Given the description of an element on the screen output the (x, y) to click on. 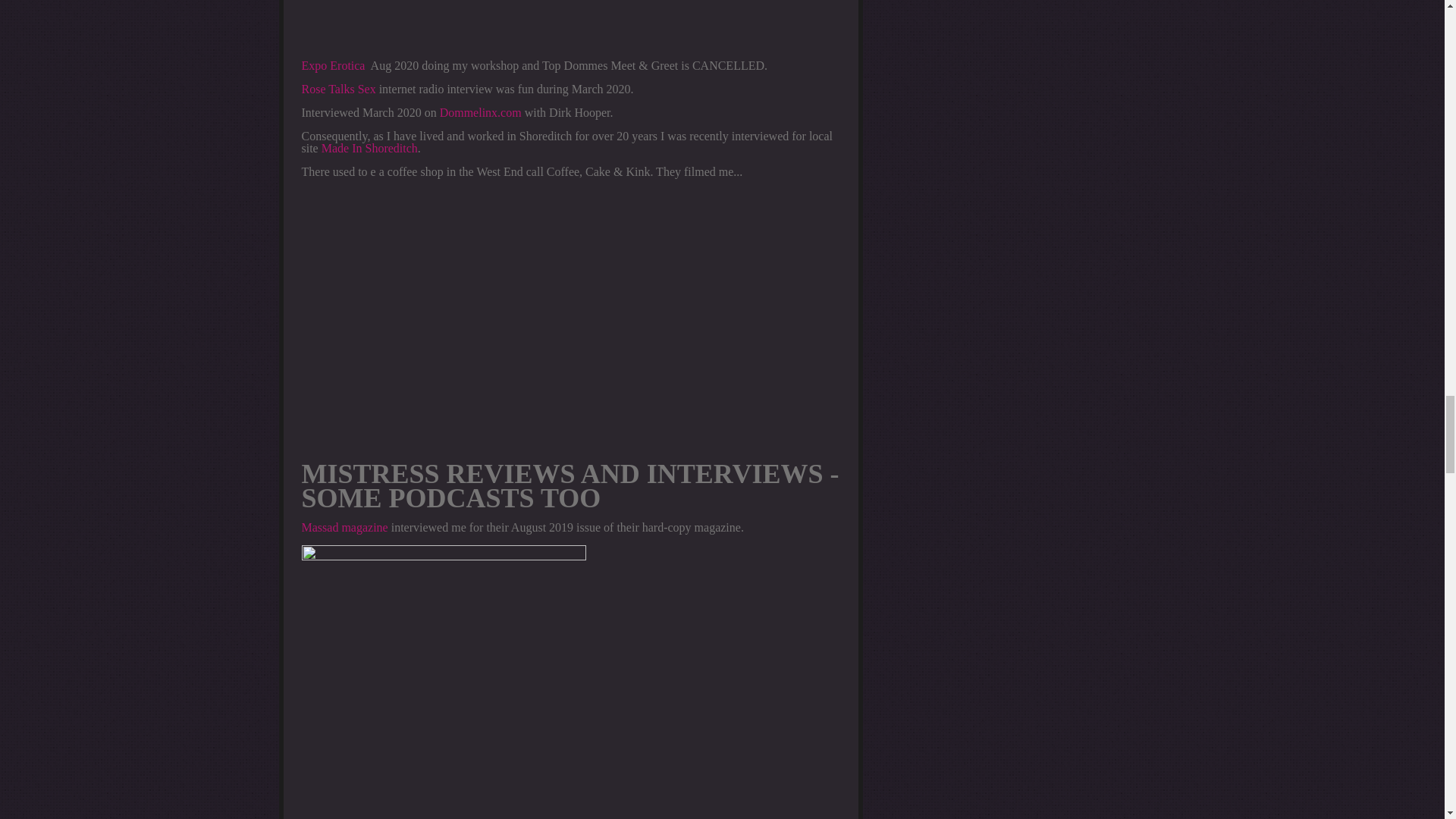
Massad magazine (344, 526)
Expo Erotica (333, 65)
Rose Talks Sex (338, 88)
Dommelinx.com (480, 112)
Made In Shoreditch (369, 147)
